Given the description of an element on the screen output the (x, y) to click on. 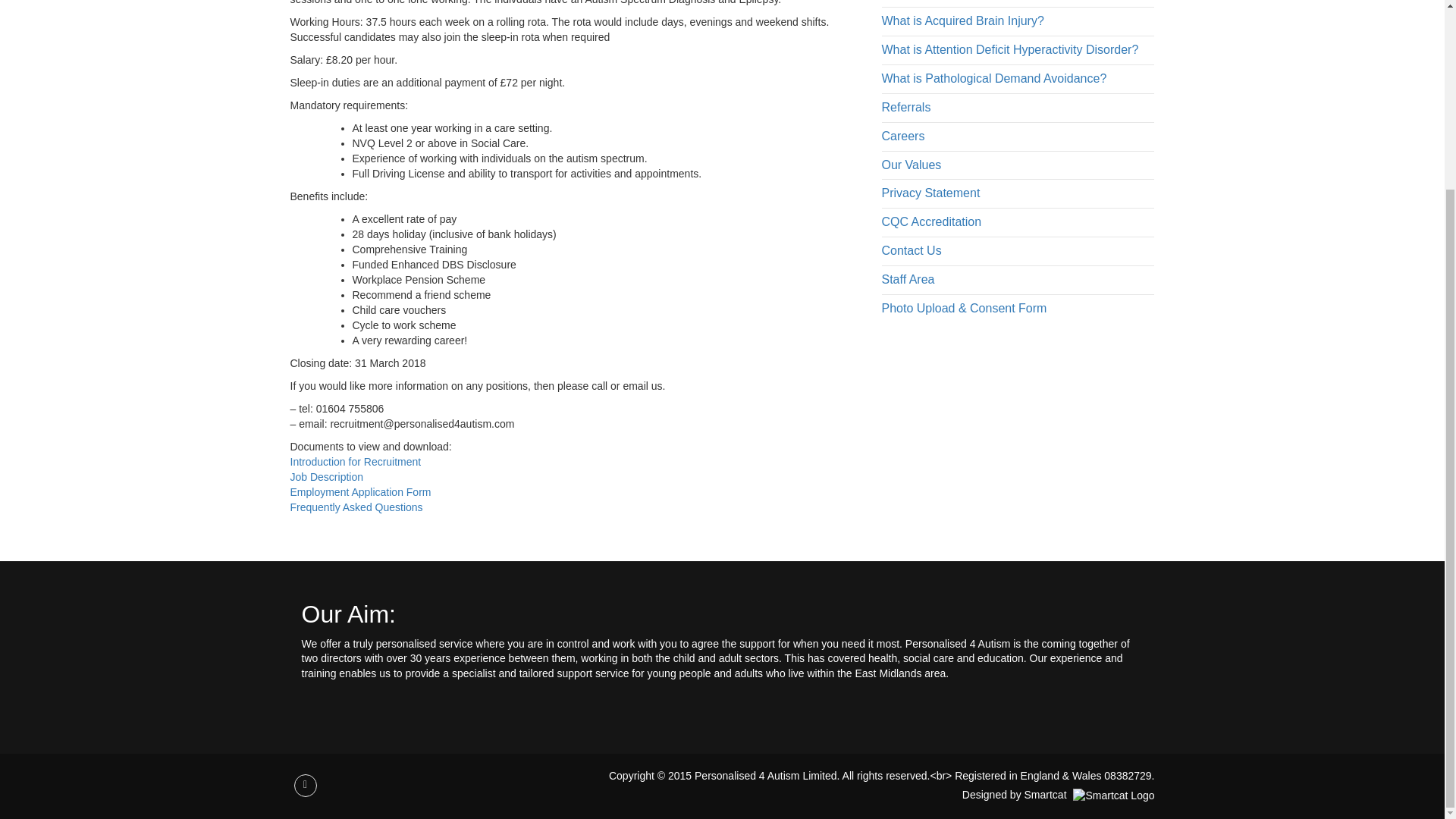
Job Description (325, 476)
Employment Application Form (359, 491)
Frequently Asked Questions (355, 507)
Introduction for Recruitment (354, 461)
